Given the description of an element on the screen output the (x, y) to click on. 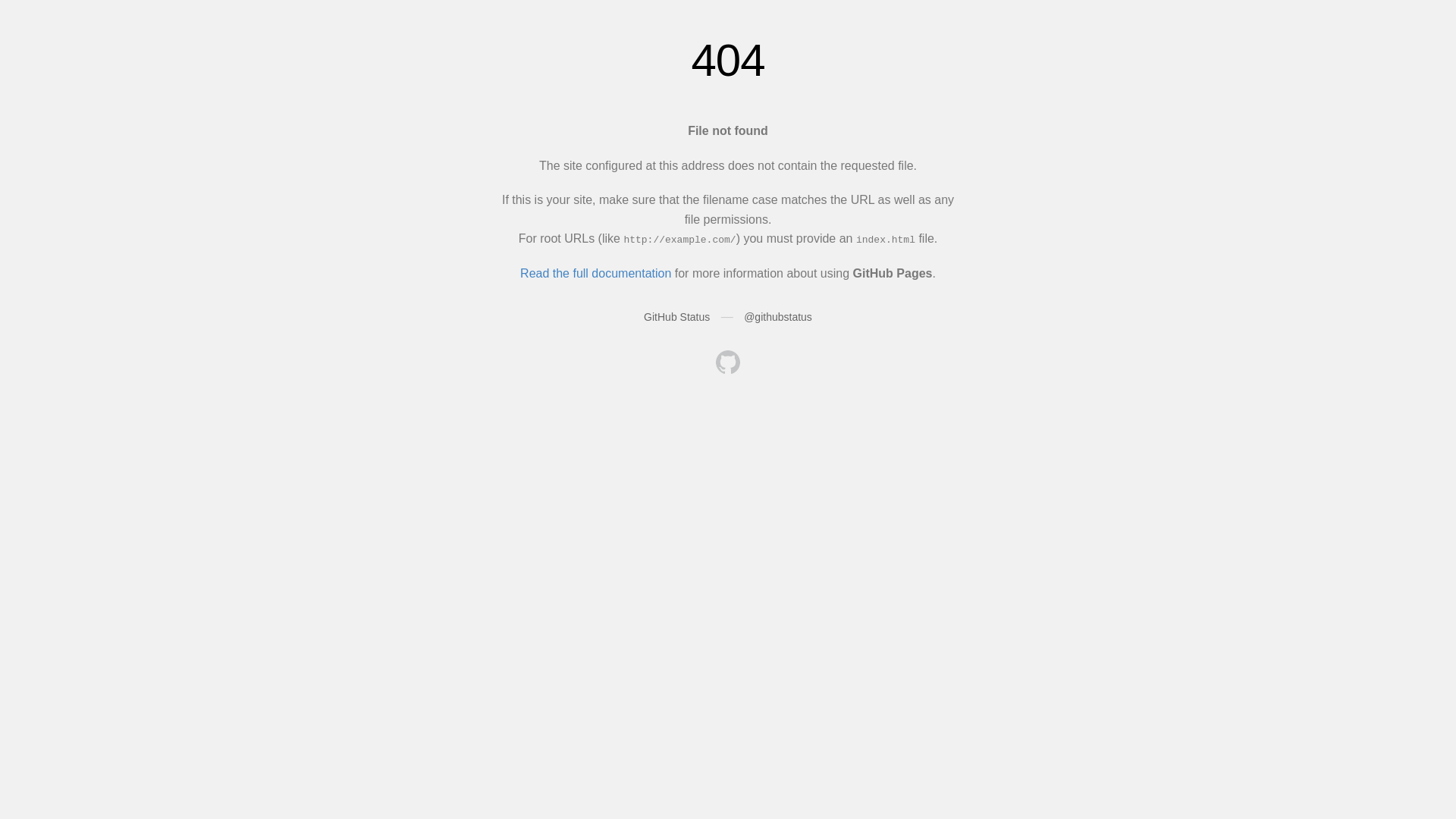
Read the full documentation Element type: text (595, 272)
@githubstatus Element type: text (777, 316)
GitHub Status Element type: text (676, 316)
